Given the description of an element on the screen output the (x, y) to click on. 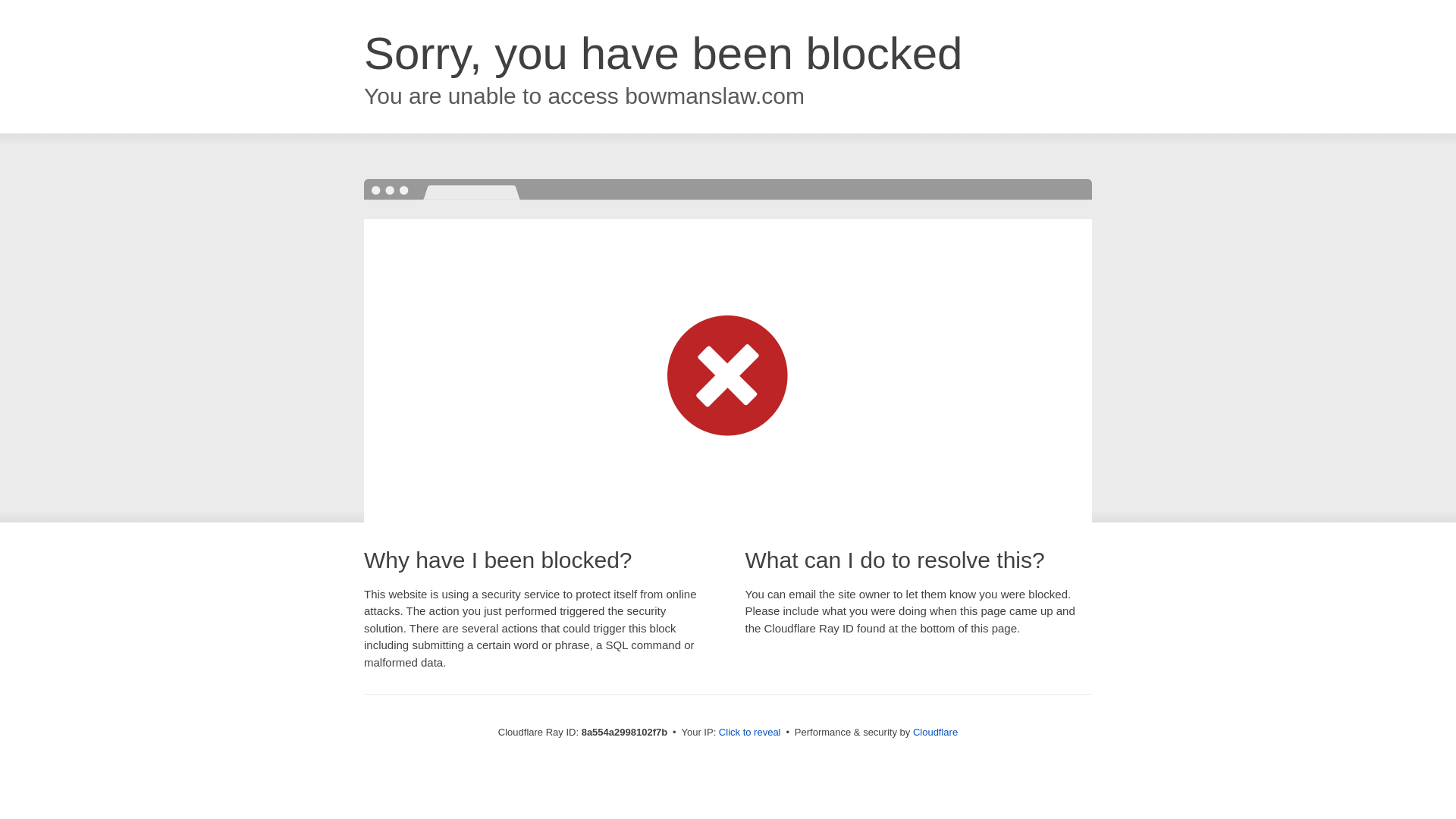
Click to reveal (749, 732)
Cloudflare (935, 731)
